Given the description of an element on the screen output the (x, y) to click on. 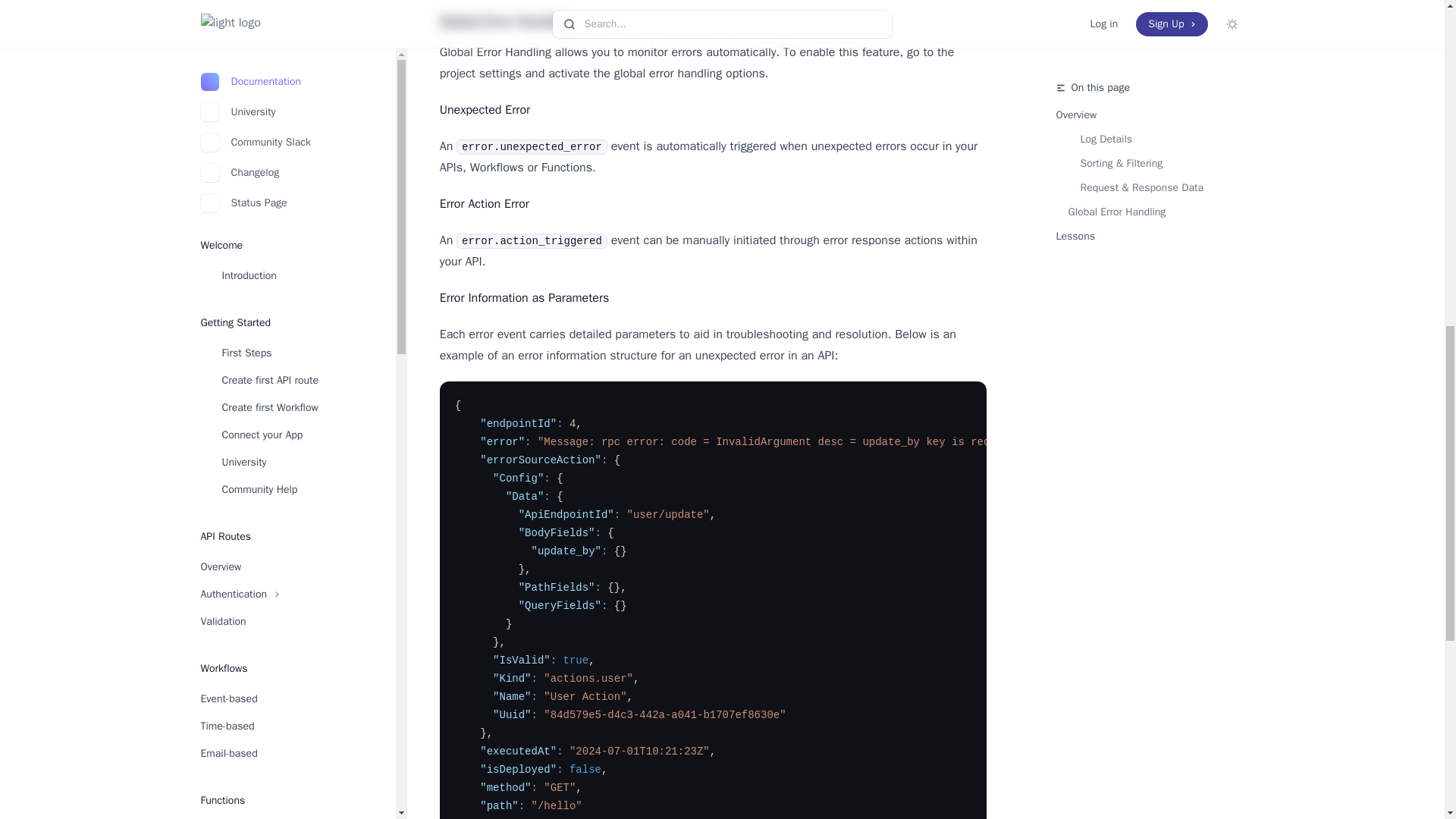
Debug Mode (279, 803)
Environment variables (279, 275)
Overview (279, 457)
Direct connect (279, 484)
Overview (279, 616)
Access your files (279, 698)
Limits (279, 726)
Creating a bucket (279, 644)
IP Whitelist (279, 512)
